Given the description of an element on the screen output the (x, y) to click on. 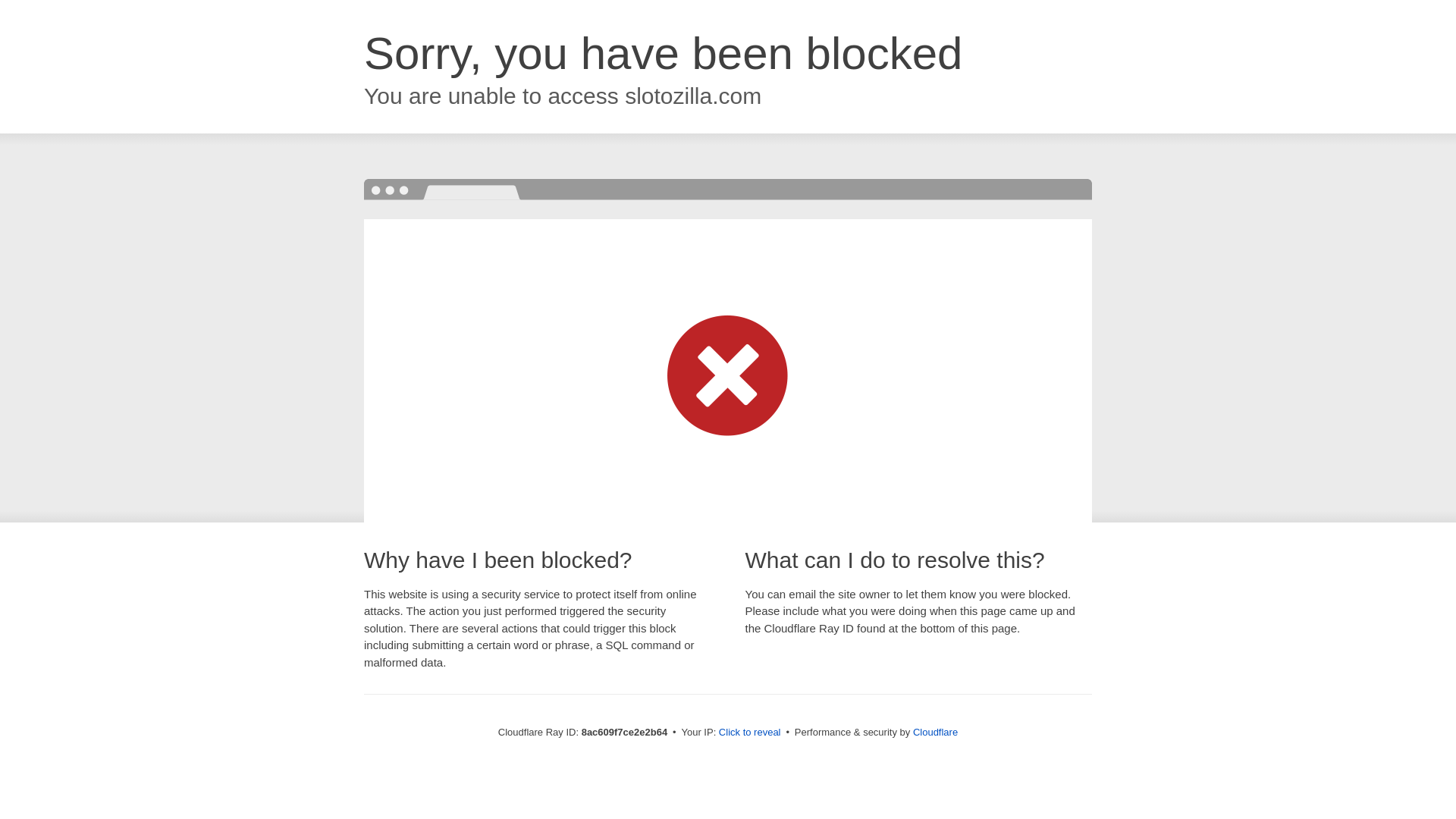
Cloudflare (935, 731)
Click to reveal (749, 732)
